Given the description of an element on the screen output the (x, y) to click on. 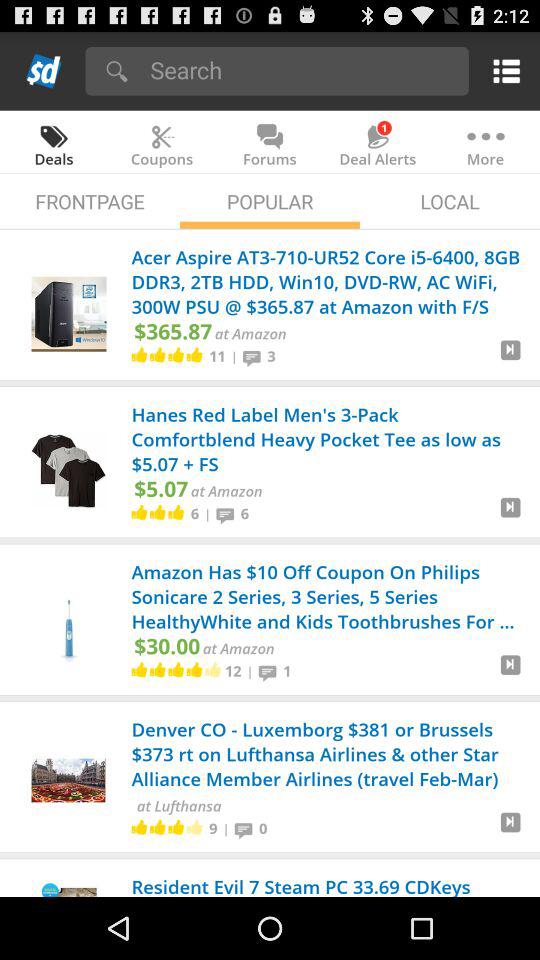
next deal (510, 672)
